Given the description of an element on the screen output the (x, y) to click on. 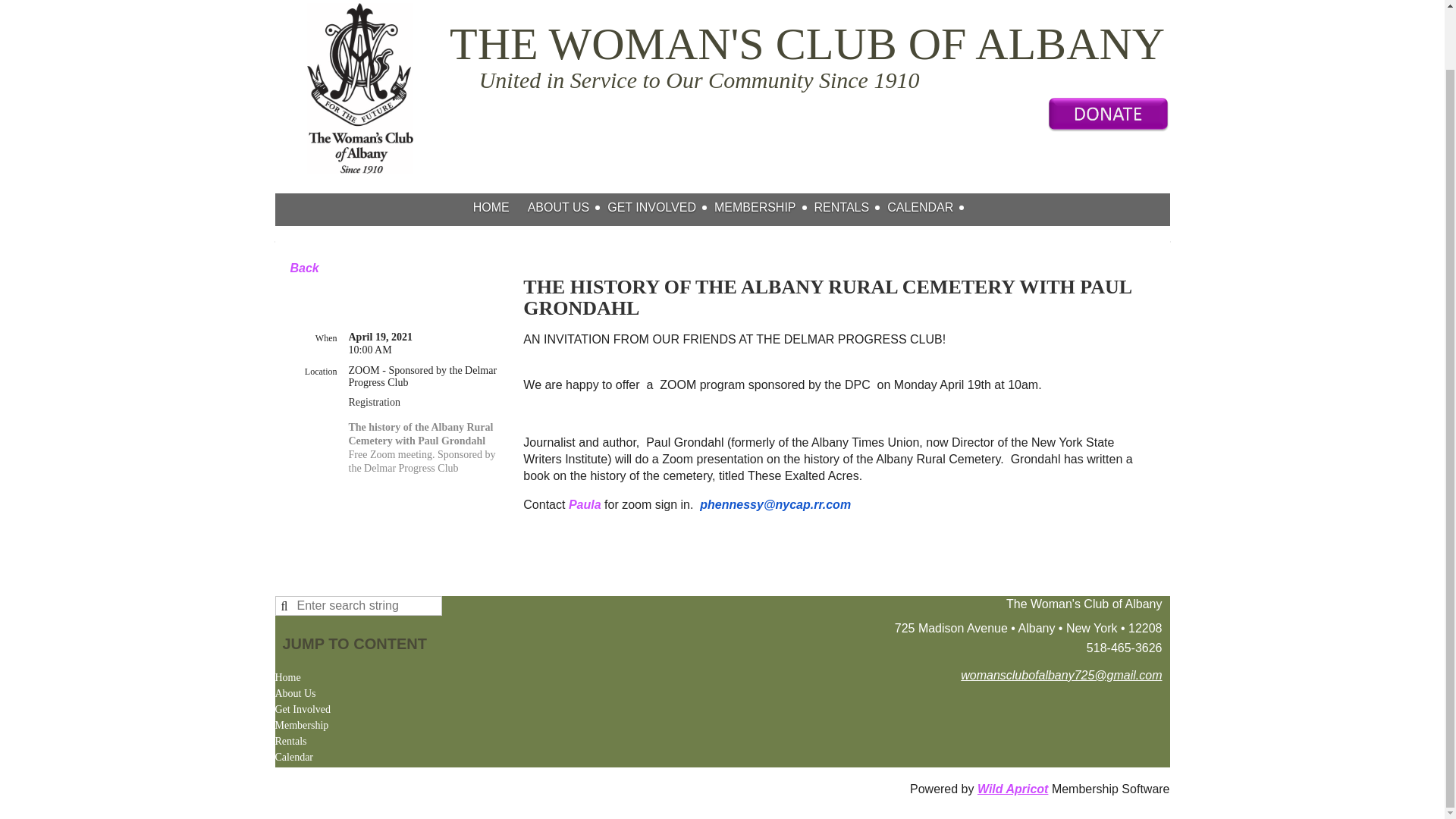
Membership (302, 725)
Get Involved (302, 709)
About Us (567, 207)
HOME (500, 207)
Back (303, 267)
CALENDAR (928, 207)
ABOUT US (567, 207)
Paula (585, 504)
Home (500, 207)
Home (287, 677)
RENTALS (850, 207)
Rentals (290, 741)
MEMBERSHIP (763, 207)
About Us (295, 693)
GET INVOLVED (660, 207)
